Given the description of an element on the screen output the (x, y) to click on. 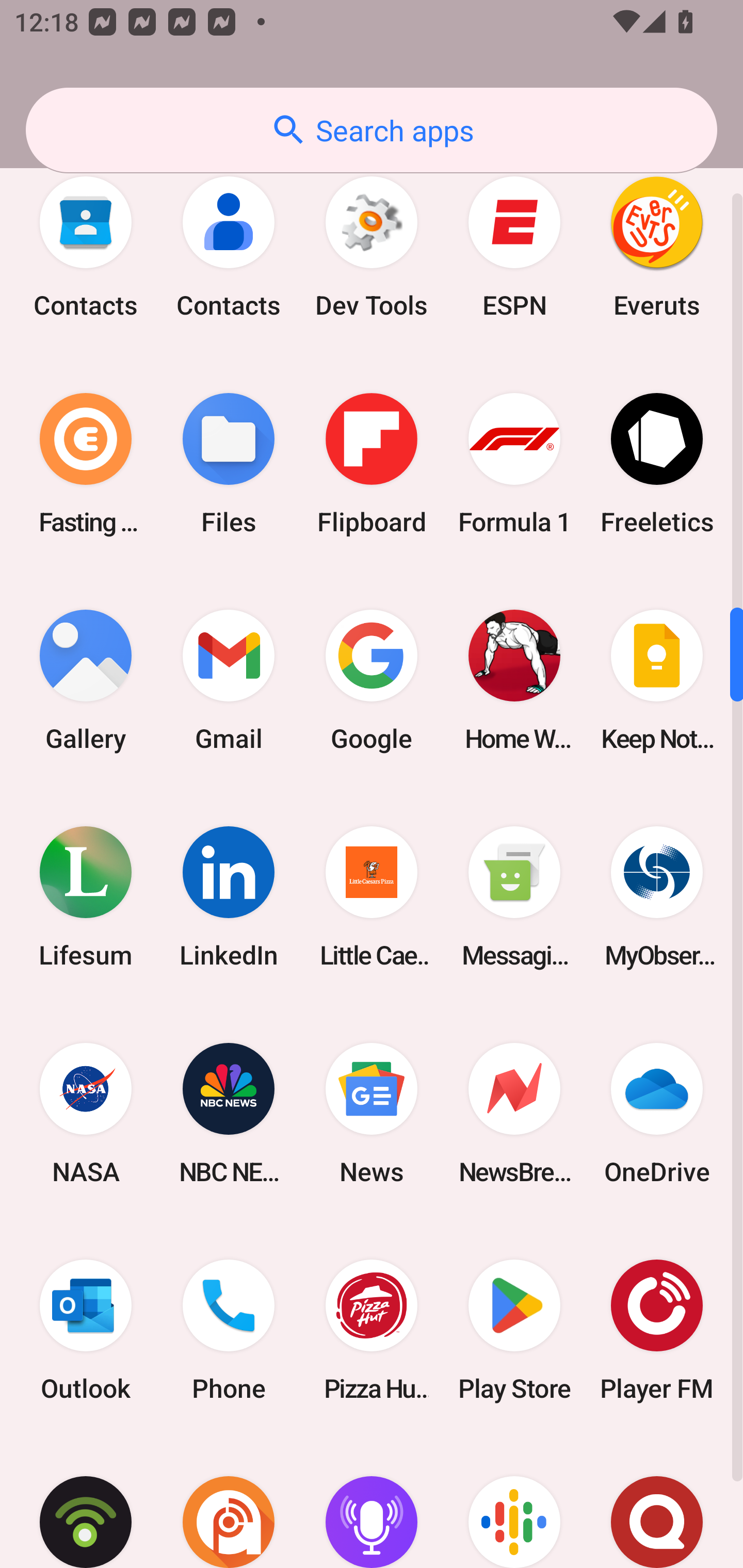
  Search apps (371, 130)
Contacts (85, 246)
Contacts (228, 246)
Dev Tools (371, 246)
ESPN (514, 246)
Everuts (656, 246)
Fasting Coach (85, 463)
Files (228, 463)
Flipboard (371, 463)
Formula 1 (514, 463)
Freeletics (656, 463)
Gallery (85, 680)
Gmail (228, 680)
Google (371, 680)
Home Workout (514, 680)
Keep Notes (656, 680)
Lifesum (85, 896)
LinkedIn (228, 896)
Little Caesars Pizza (371, 896)
Messaging (514, 896)
MyObservatory (656, 896)
NASA (85, 1113)
NBC NEWS (228, 1113)
News (371, 1113)
NewsBreak (514, 1113)
OneDrive (656, 1113)
Outlook (85, 1329)
Phone (228, 1329)
Pizza Hut HK & Macau (371, 1329)
Play Store (514, 1329)
Player FM (656, 1329)
Podbean (85, 1502)
Podcast Addict (228, 1502)
Podcast Player (371, 1502)
Podcasts (514, 1502)
Quora (656, 1502)
